Given the description of an element on the screen output the (x, y) to click on. 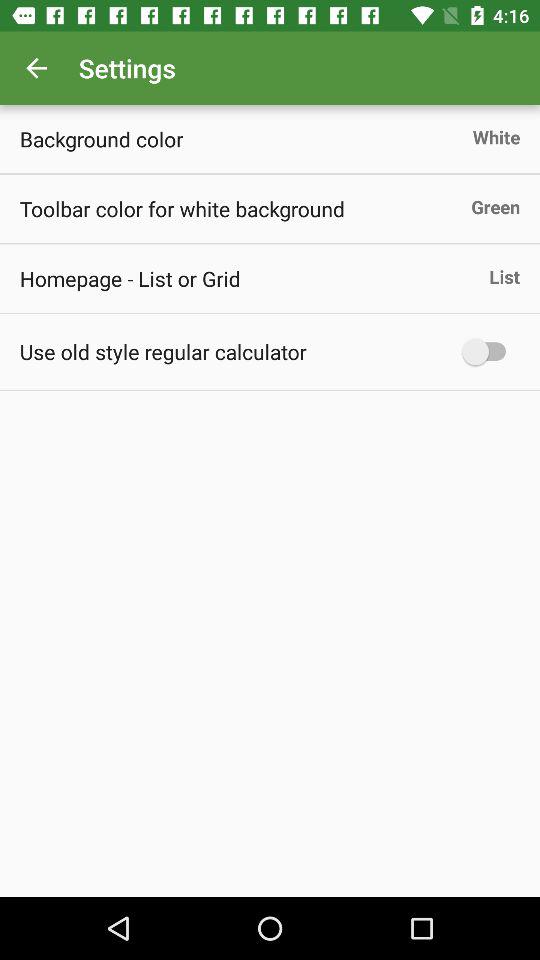
select item above homepage list or item (182, 208)
